Given the description of an element on the screen output the (x, y) to click on. 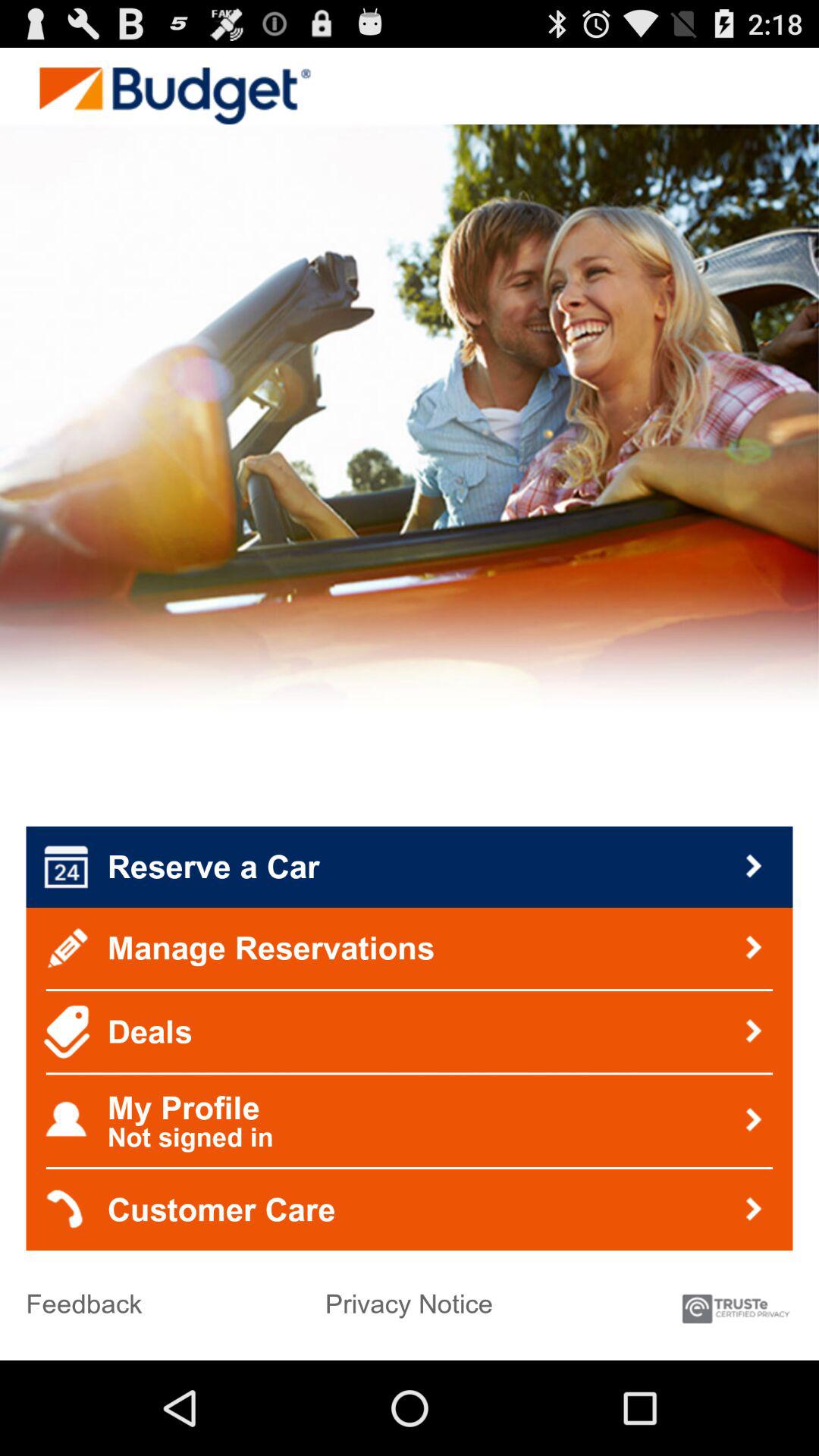
select the icon above manage reservations item (409, 866)
